Given the description of an element on the screen output the (x, y) to click on. 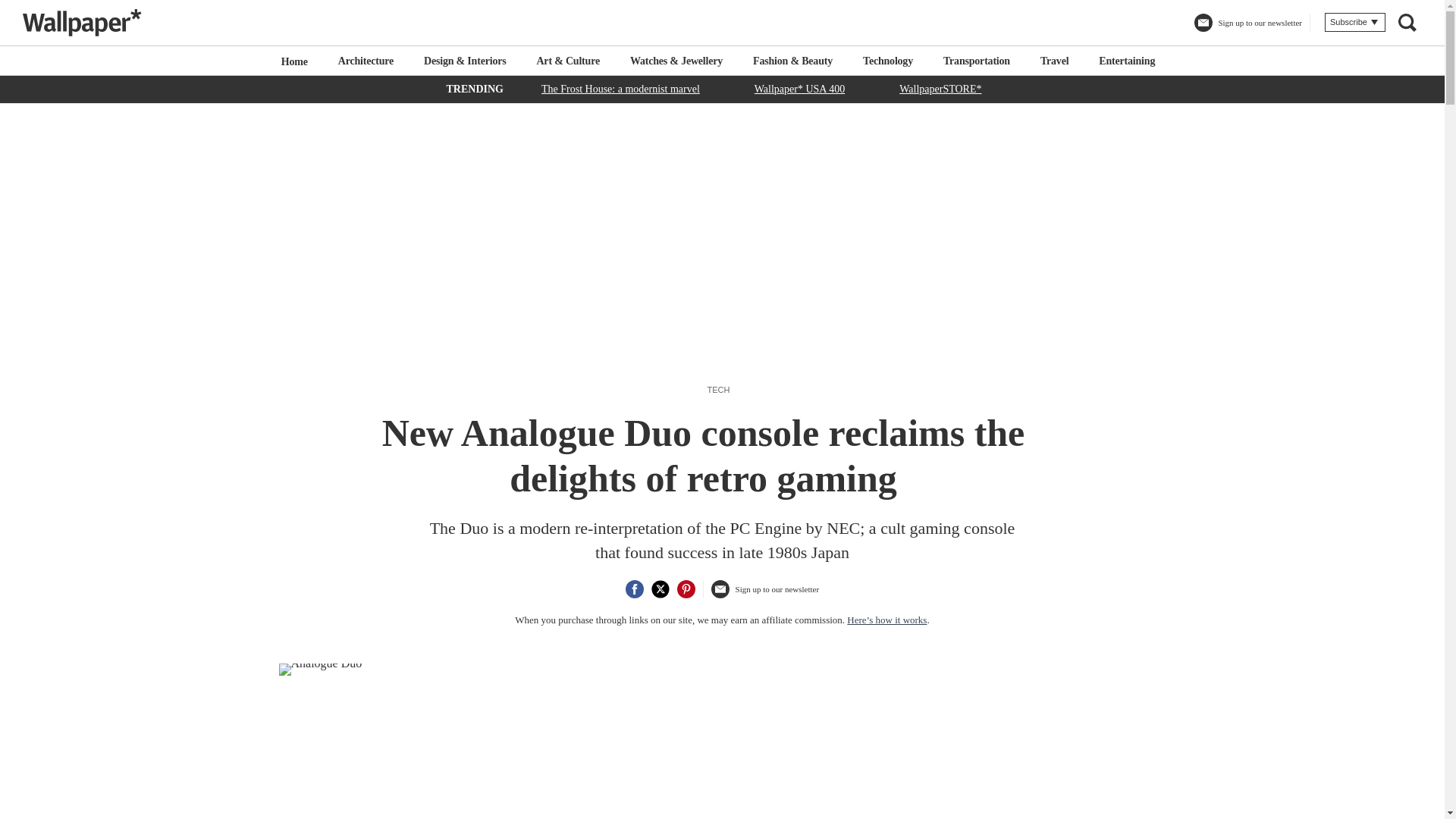
Sign up to our newsletter (1247, 28)
Technology (887, 60)
TECH (718, 388)
Sign up to our newsletter (764, 594)
Architecture (365, 60)
The Frost House: a modernist marvel (619, 88)
Entertaining (1126, 60)
Travel (1054, 60)
Transportation (976, 60)
